Given the description of an element on the screen output the (x, y) to click on. 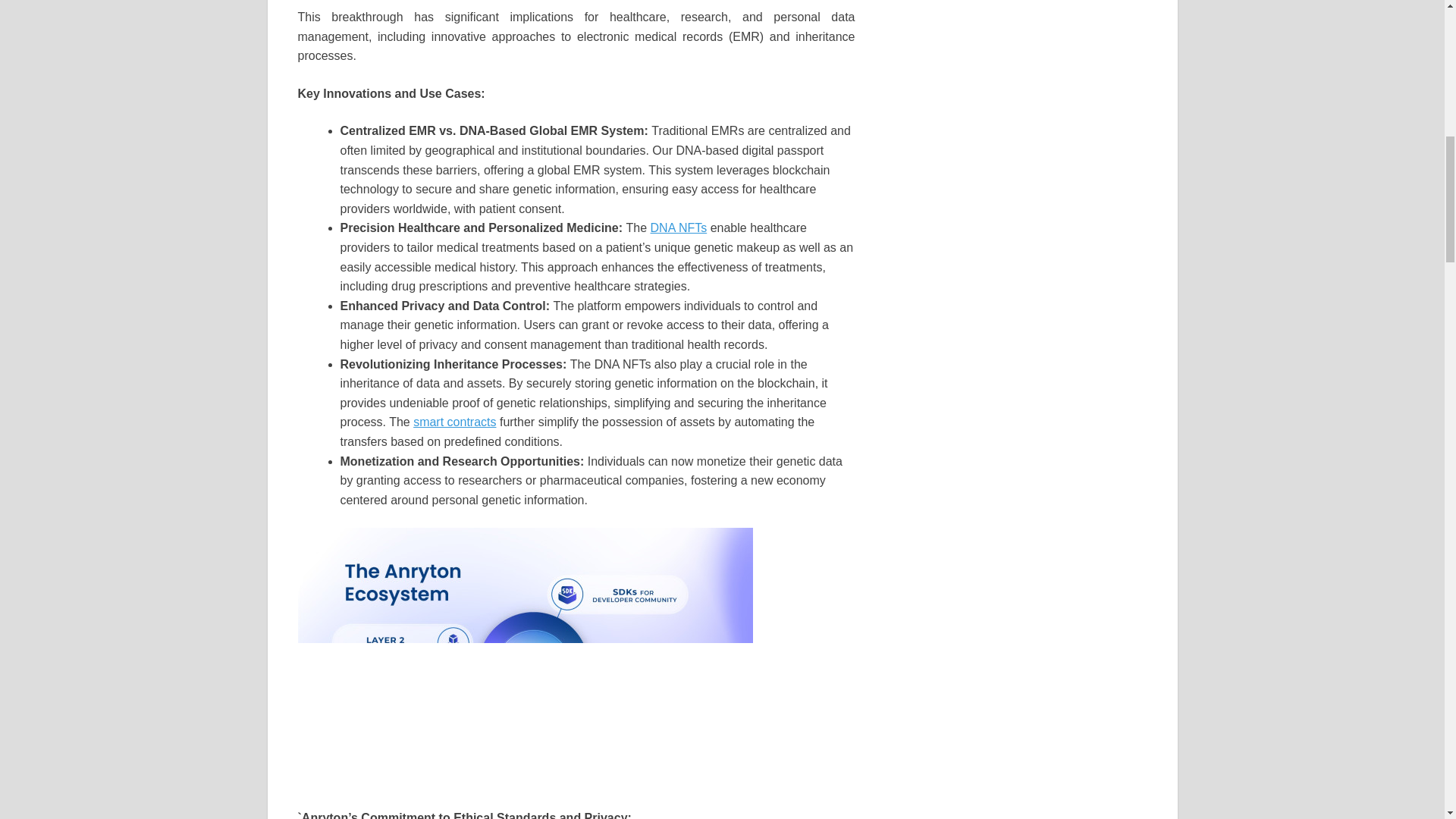
smart contracts (454, 421)
DNA NFTs (678, 227)
